Given the description of an element on the screen output the (x, y) to click on. 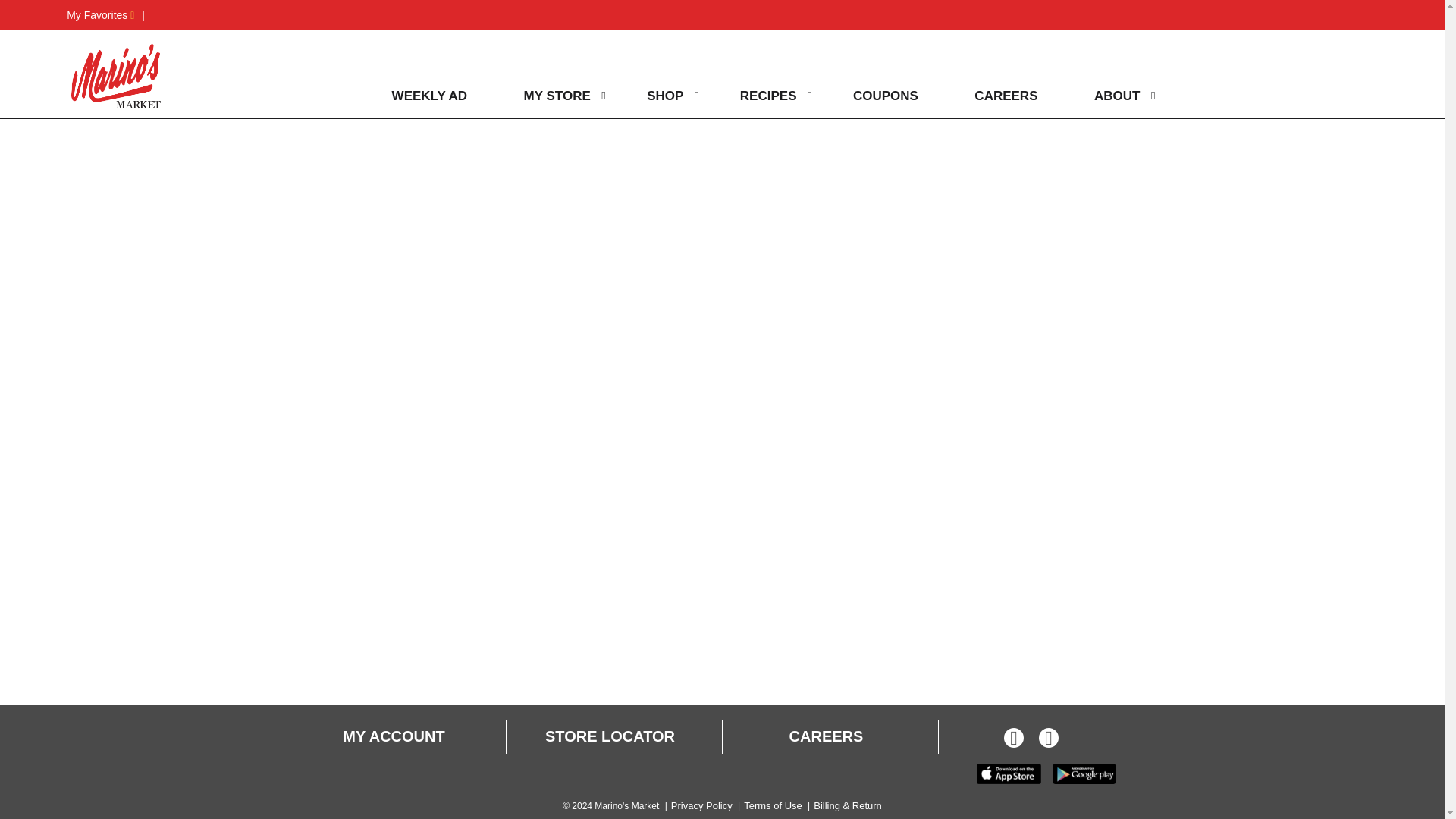
MY ACCOUNT (393, 737)
Marino's Market (116, 75)
MY STORE (552, 95)
Terms of Use (773, 805)
twitter (1048, 739)
CAREERS (826, 737)
STORE LOCATOR (609, 737)
SHOP (660, 95)
ABOUT (1112, 95)
RECIPES (764, 95)
